Given the description of an element on the screen output the (x, y) to click on. 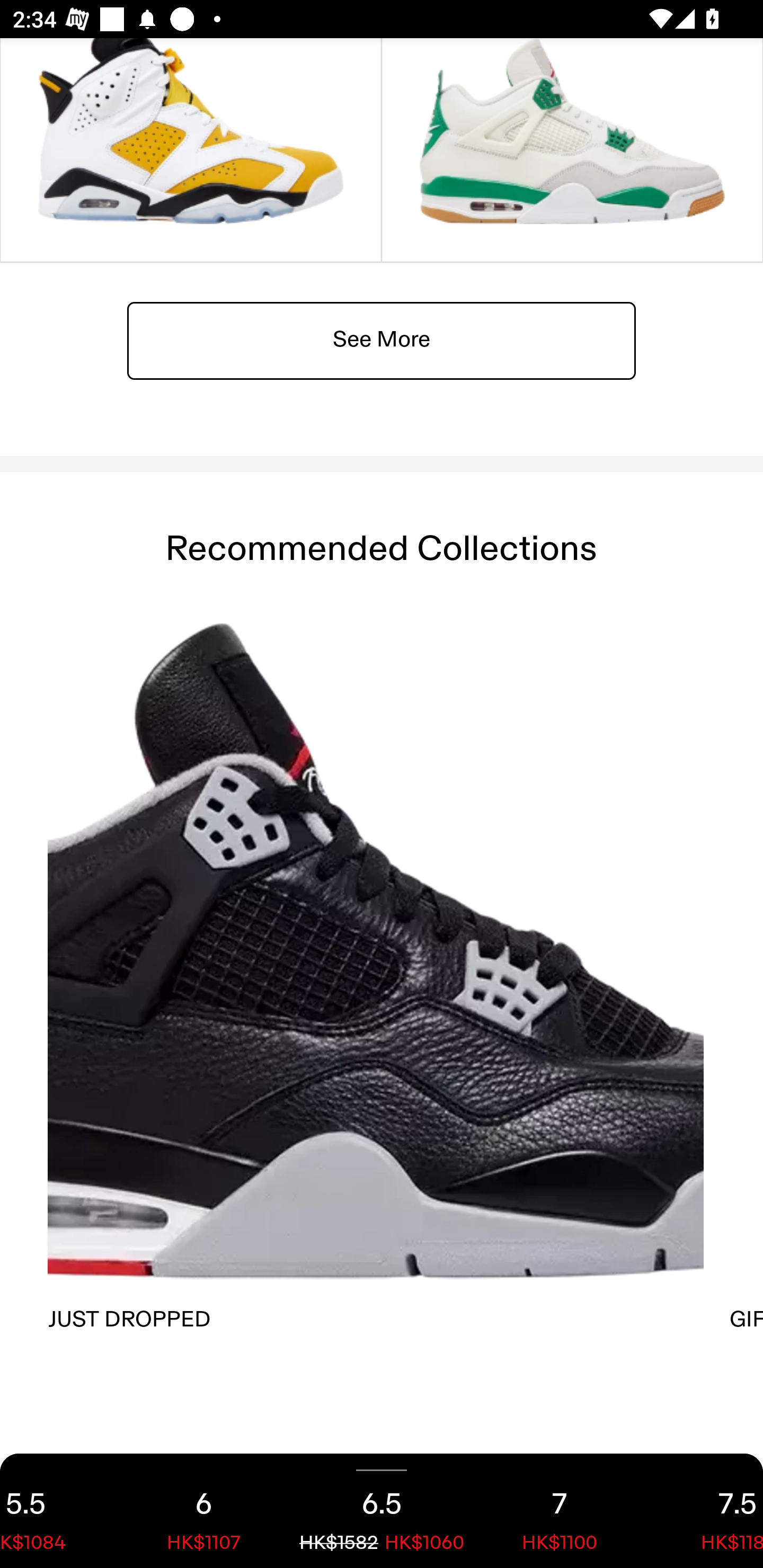
See More (381, 340)
5.5 HK$1084 (57, 1510)
6 HK$1107 (203, 1510)
6.5 HK$1582 HK$1060 (381, 1510)
7 HK$1100 (559, 1510)
7.5 HK$1187 (705, 1510)
